Given the description of an element on the screen output the (x, y) to click on. 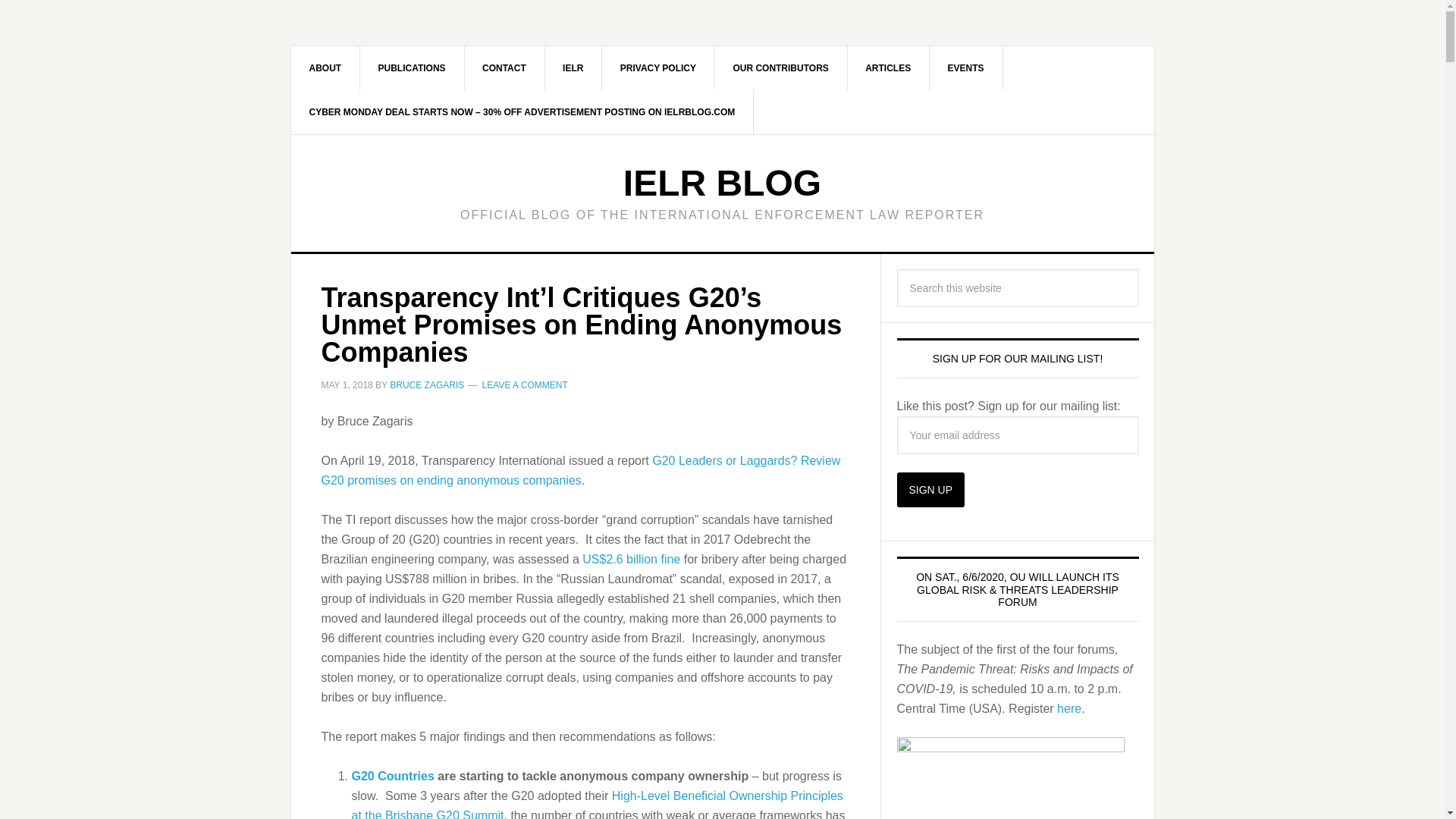
ABOUT (326, 67)
LEAVE A COMMENT (524, 385)
OUR CONTRIBUTORS (780, 67)
IELR BLOG (722, 182)
Sign up (929, 489)
EVENTS (966, 67)
PRIVACY POLICY (658, 67)
ARTICLES (888, 67)
BRUCE ZAGARIS (427, 385)
CONTACT (504, 67)
G20 Countries (392, 775)
IELR (573, 67)
